Given the description of an element on the screen output the (x, y) to click on. 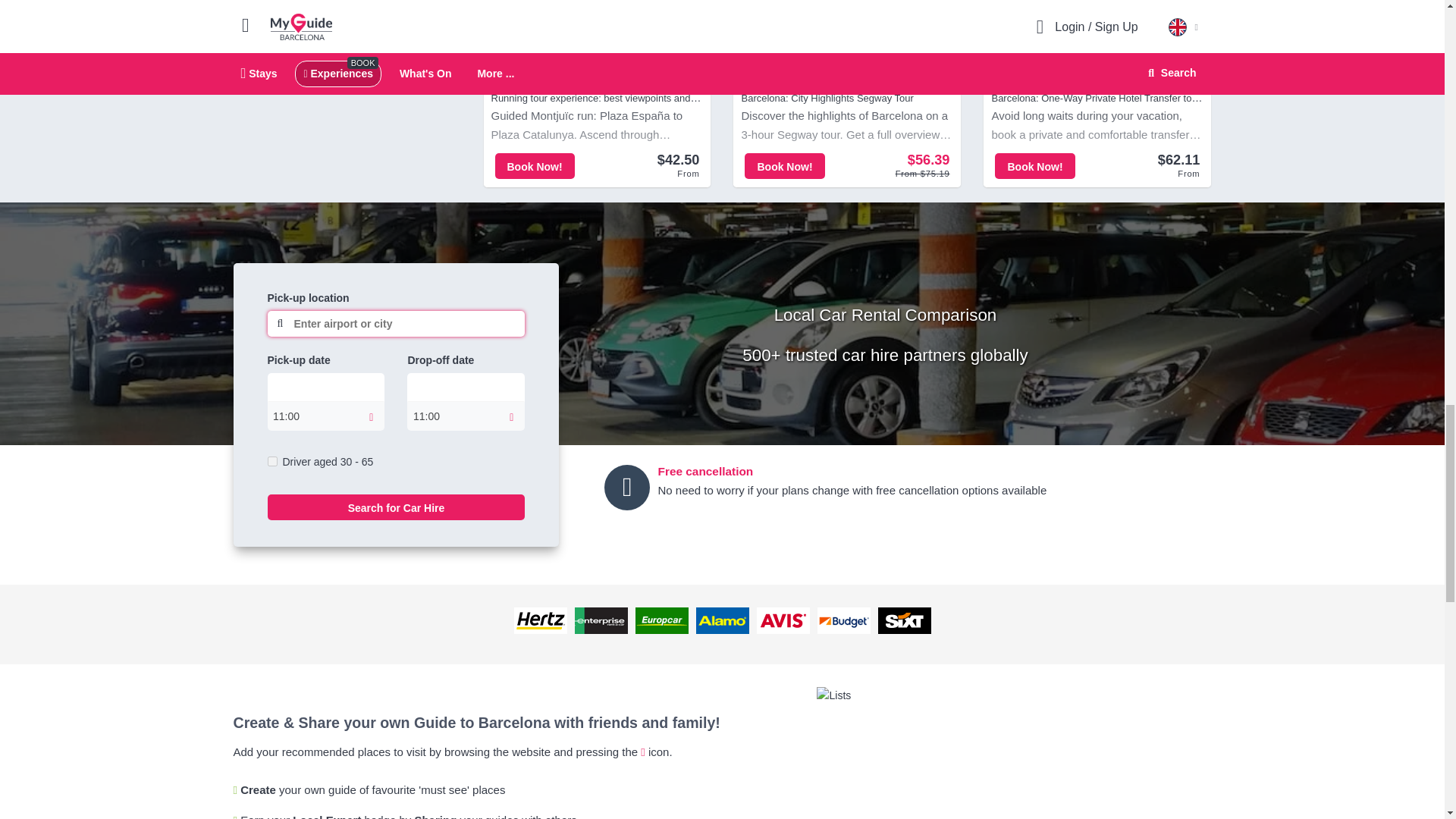
on (271, 461)
